Given the description of an element on the screen output the (x, y) to click on. 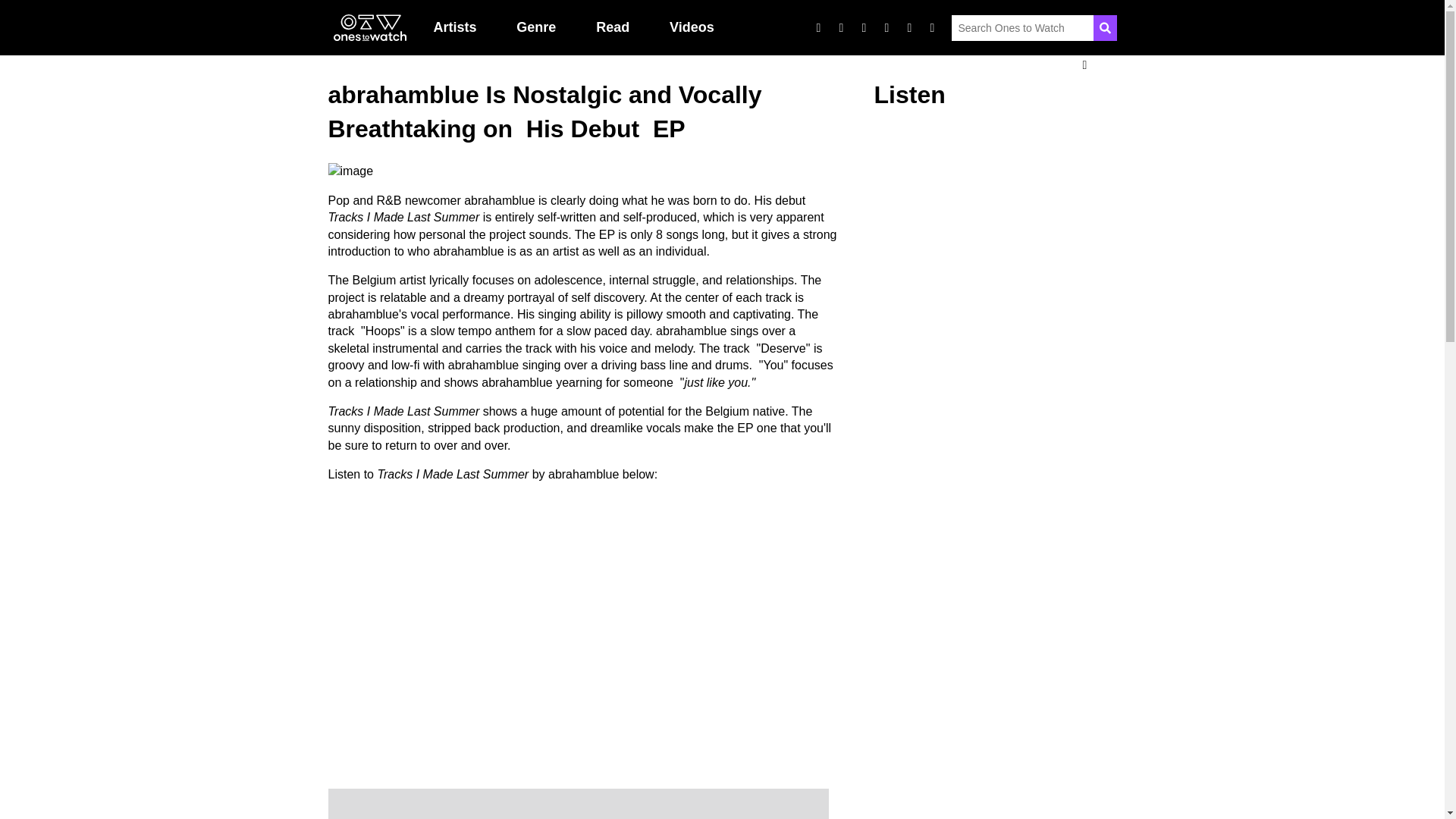
Artists (455, 27)
Ones2Watch Home (369, 27)
Videos (692, 27)
